Given the description of an element on the screen output the (x, y) to click on. 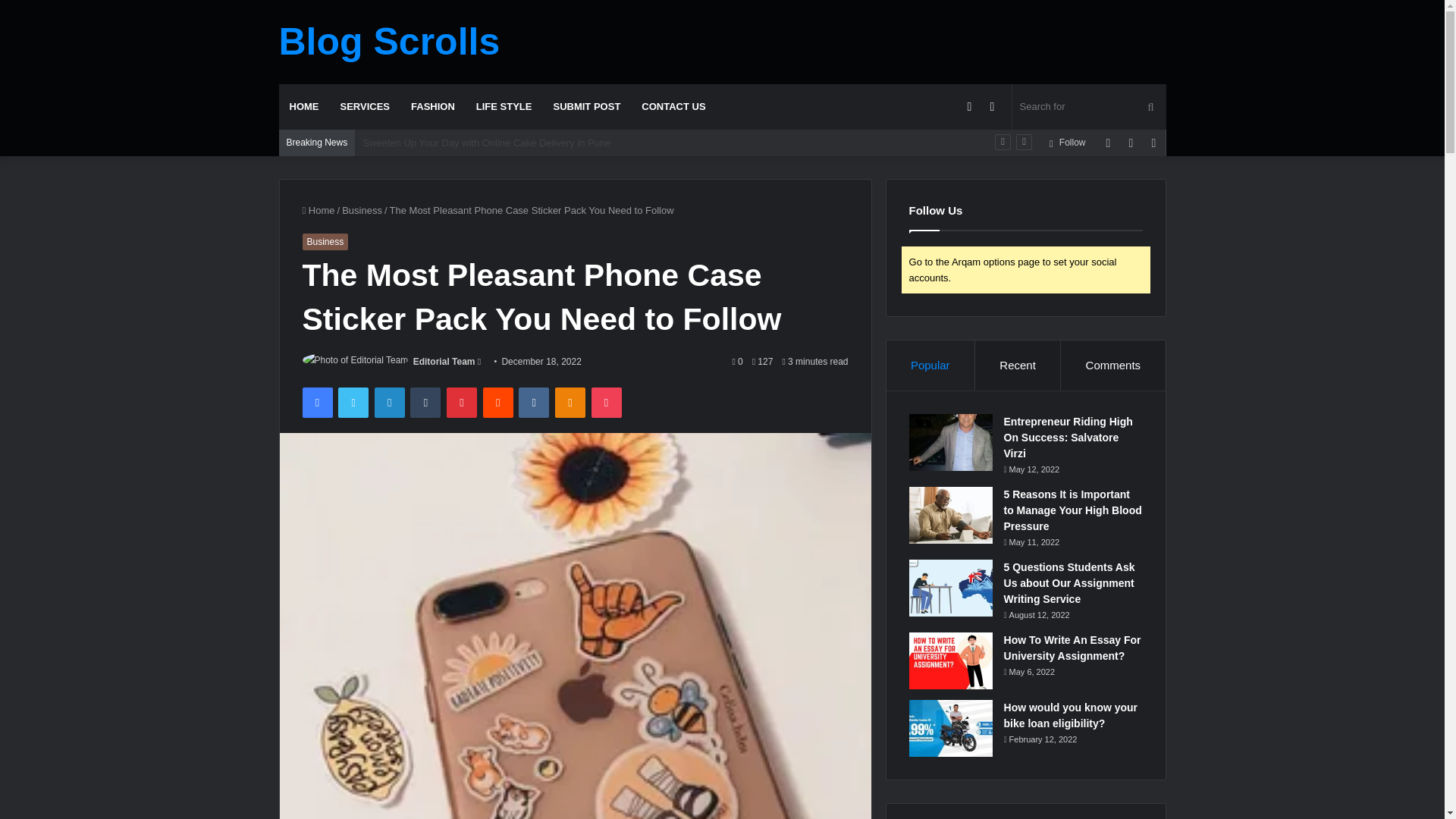
Odnoklassniki (569, 402)
Home (317, 210)
LinkedIn (389, 402)
Reddit (498, 402)
Tumblr (425, 402)
Pinterest (461, 402)
Pinterest (461, 402)
Blog Scrolls (389, 41)
VKontakte (533, 402)
FASHION (432, 106)
Editorial Team (444, 361)
Search for (1088, 106)
Blog Scrolls (389, 41)
Twitter (352, 402)
VKontakte (533, 402)
